Given the description of an element on the screen output the (x, y) to click on. 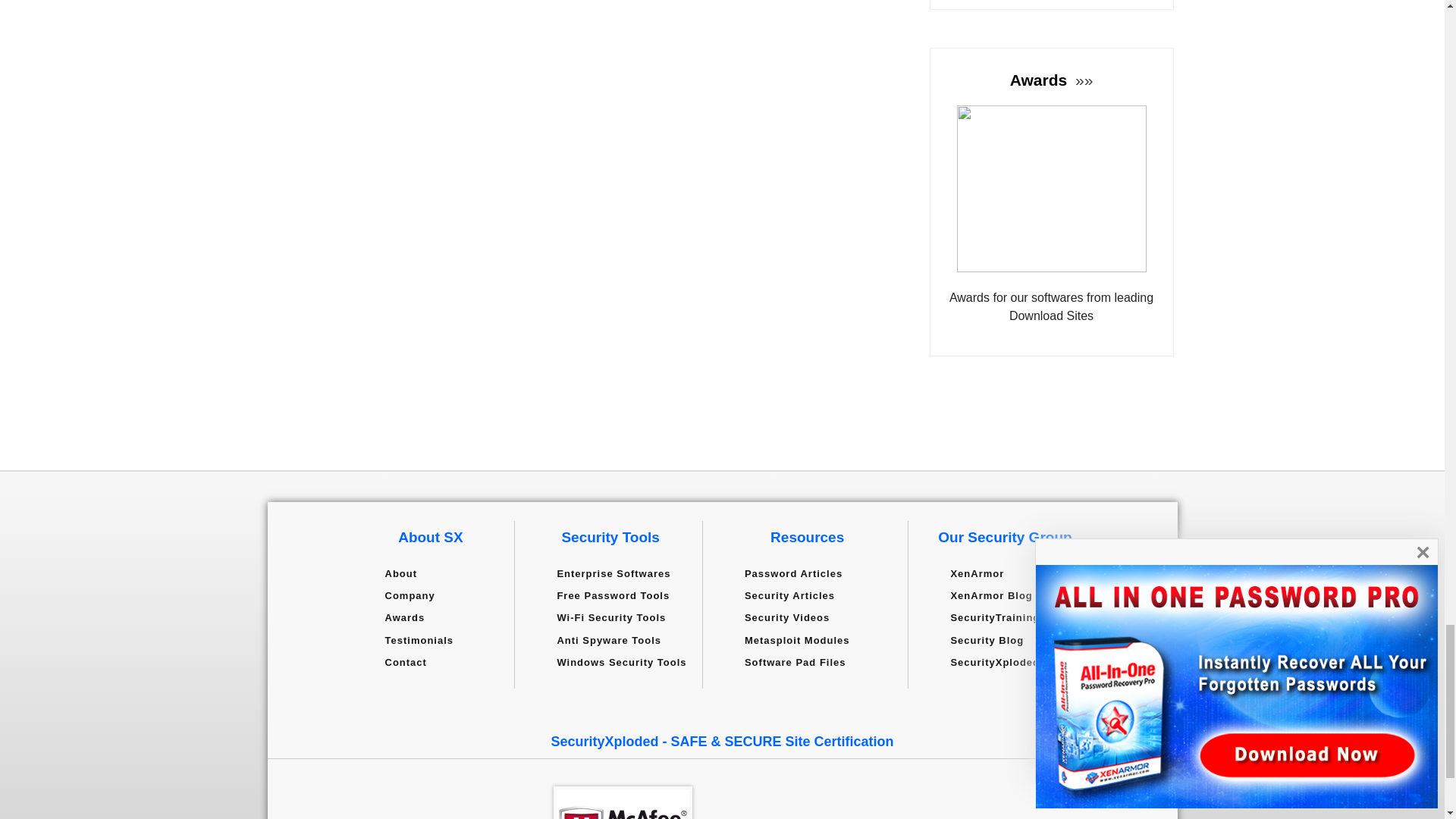
McAfee Site Advisor - SAFE Rating (623, 802)
See More... (1082, 79)
